Given the description of an element on the screen output the (x, y) to click on. 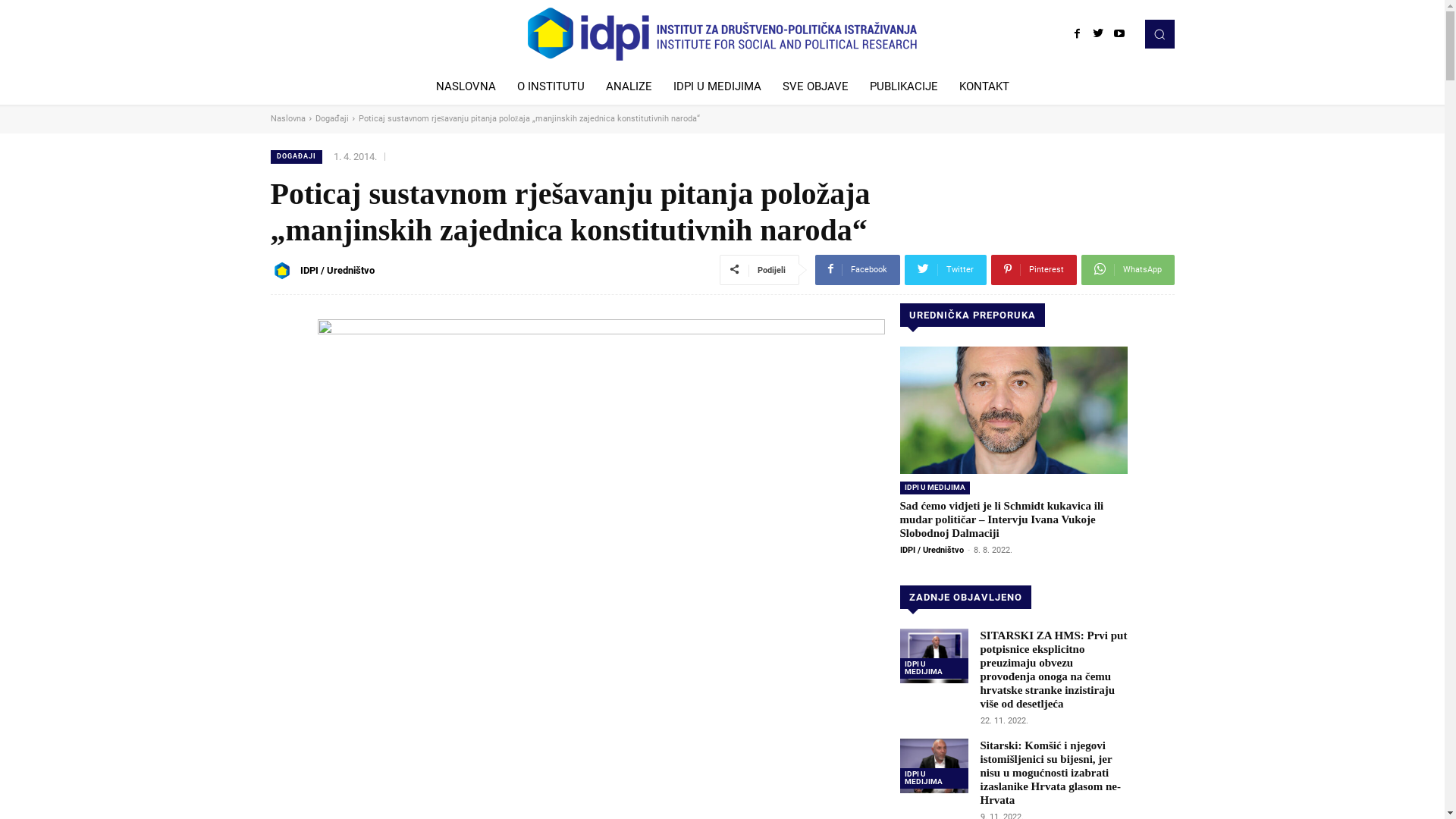
IDPI U MEDIJIMA Element type: text (716, 86)
KONTAKT Element type: text (983, 86)
Pinterest Element type: text (1033, 269)
Facebook Element type: hover (1076, 33)
Twitter Element type: text (944, 269)
IDPI U MEDIJIMA Element type: text (933, 668)
PUBLIKACIJE Element type: text (902, 86)
Twitter Element type: hover (1097, 33)
NASLOVNA Element type: text (464, 86)
SVE OBJAVE Element type: text (815, 86)
Youtube Element type: hover (1118, 33)
WhatsApp Element type: text (1127, 269)
Facebook Element type: text (856, 269)
ANALIZE Element type: text (628, 86)
O INSTITUTU Element type: text (550, 86)
Naslovna Element type: text (286, 118)
IDPI U MEDIJIMA Element type: text (933, 778)
IDPI U MEDIJIMA Element type: text (934, 487)
